Given the description of an element on the screen output the (x, y) to click on. 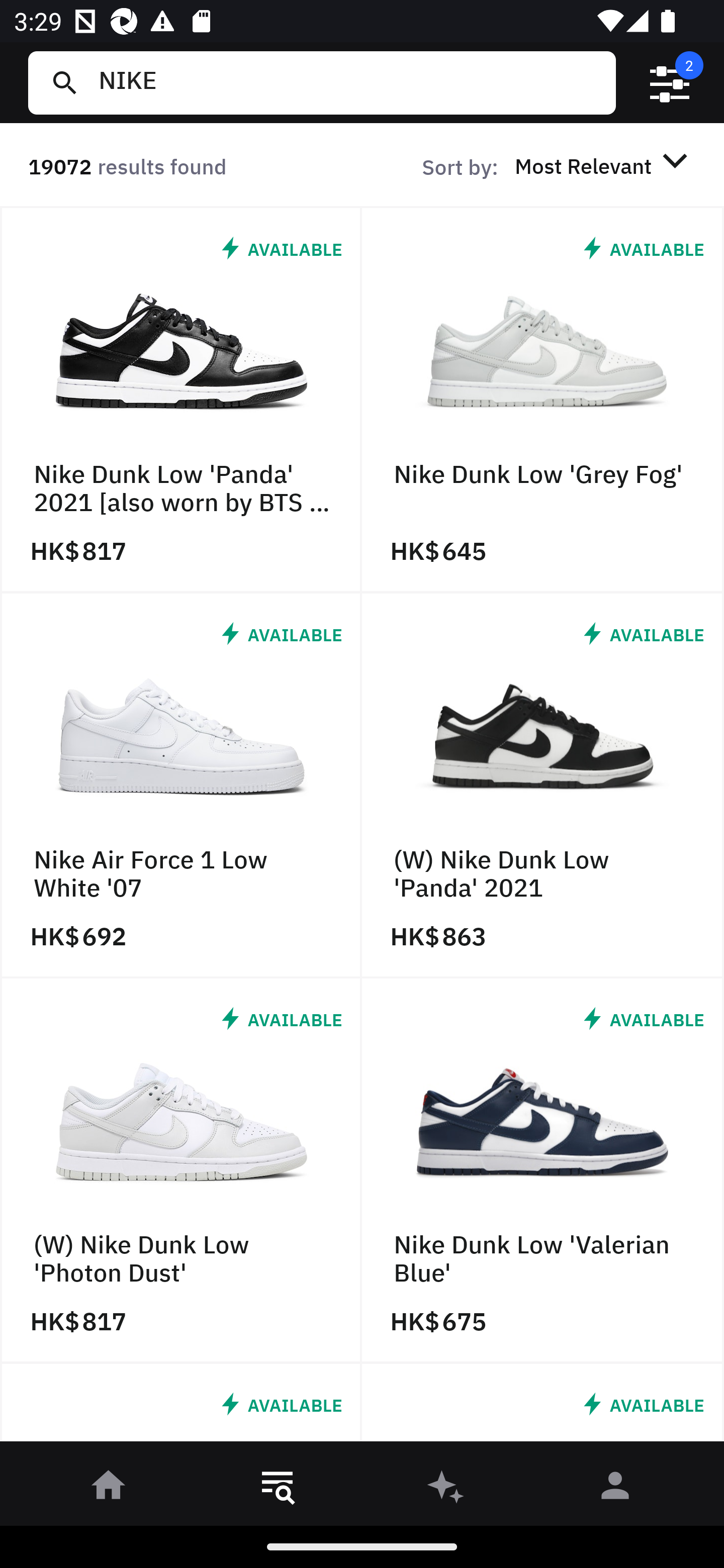
NIKE (349, 82)
 (669, 82)
Most Relevant  (604, 165)
 AVAILABLE Nike Dunk Low 'Grey Fog' HK$ 645 (543, 399)
 AVAILABLE Nike Air Force 1 Low White '07 HK$ 692 (181, 785)
 AVAILABLE (W) Nike Dunk Low 'Panda' 2021 HK$ 863 (543, 785)
 AVAILABLE Nike Dunk Low 'Valerian Blue' HK$ 675 (543, 1171)
󰋜 (108, 1488)
󱎸 (277, 1488)
󰫢 (446, 1488)
󰀄 (615, 1488)
